Given the description of an element on the screen output the (x, y) to click on. 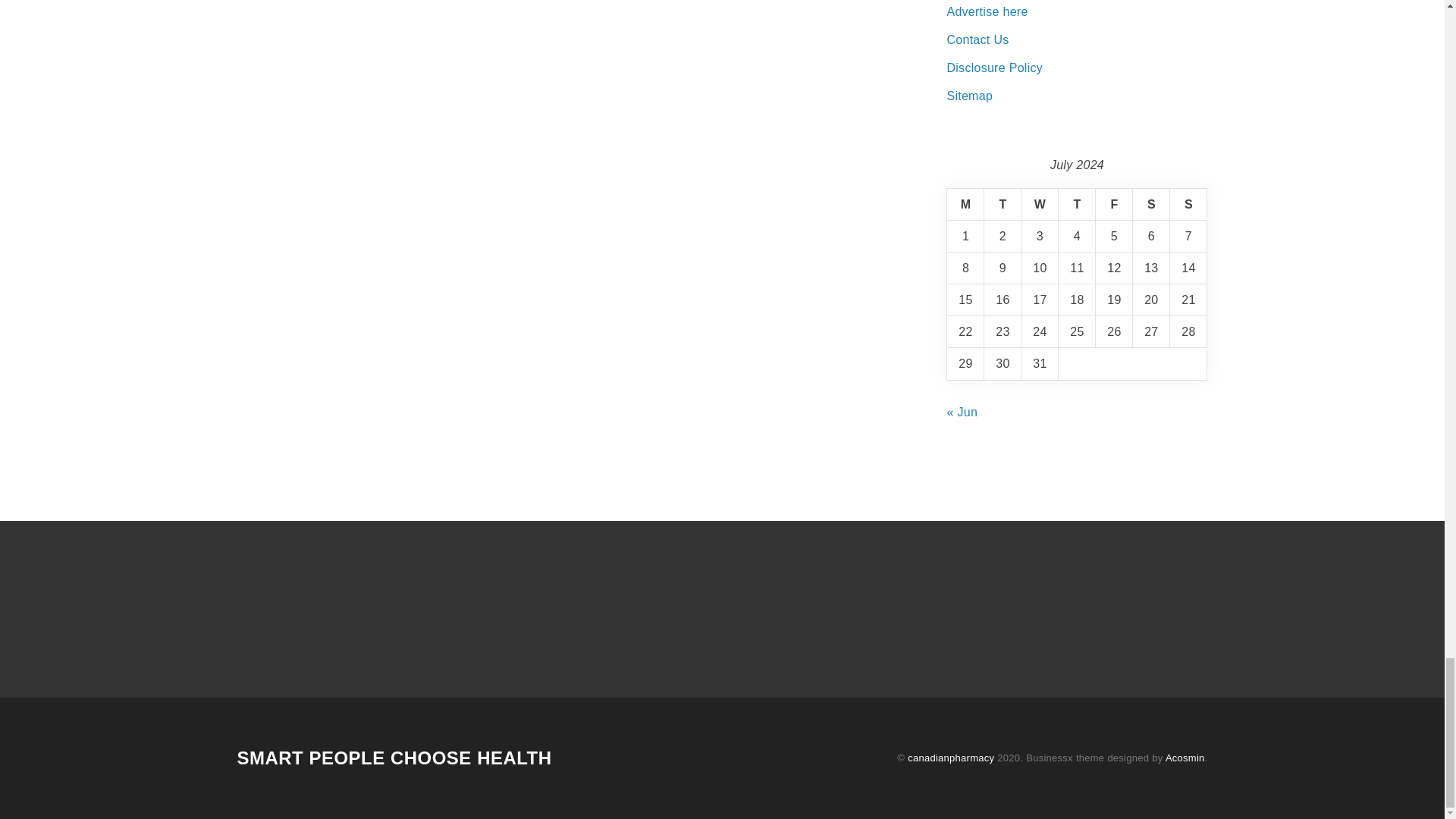
Tuesday (1003, 204)
Wednesday (1040, 204)
Sunday (1188, 204)
Monday (965, 204)
Friday (1114, 204)
Saturday (1151, 204)
Thursday (1077, 204)
